Given the description of an element on the screen output the (x, y) to click on. 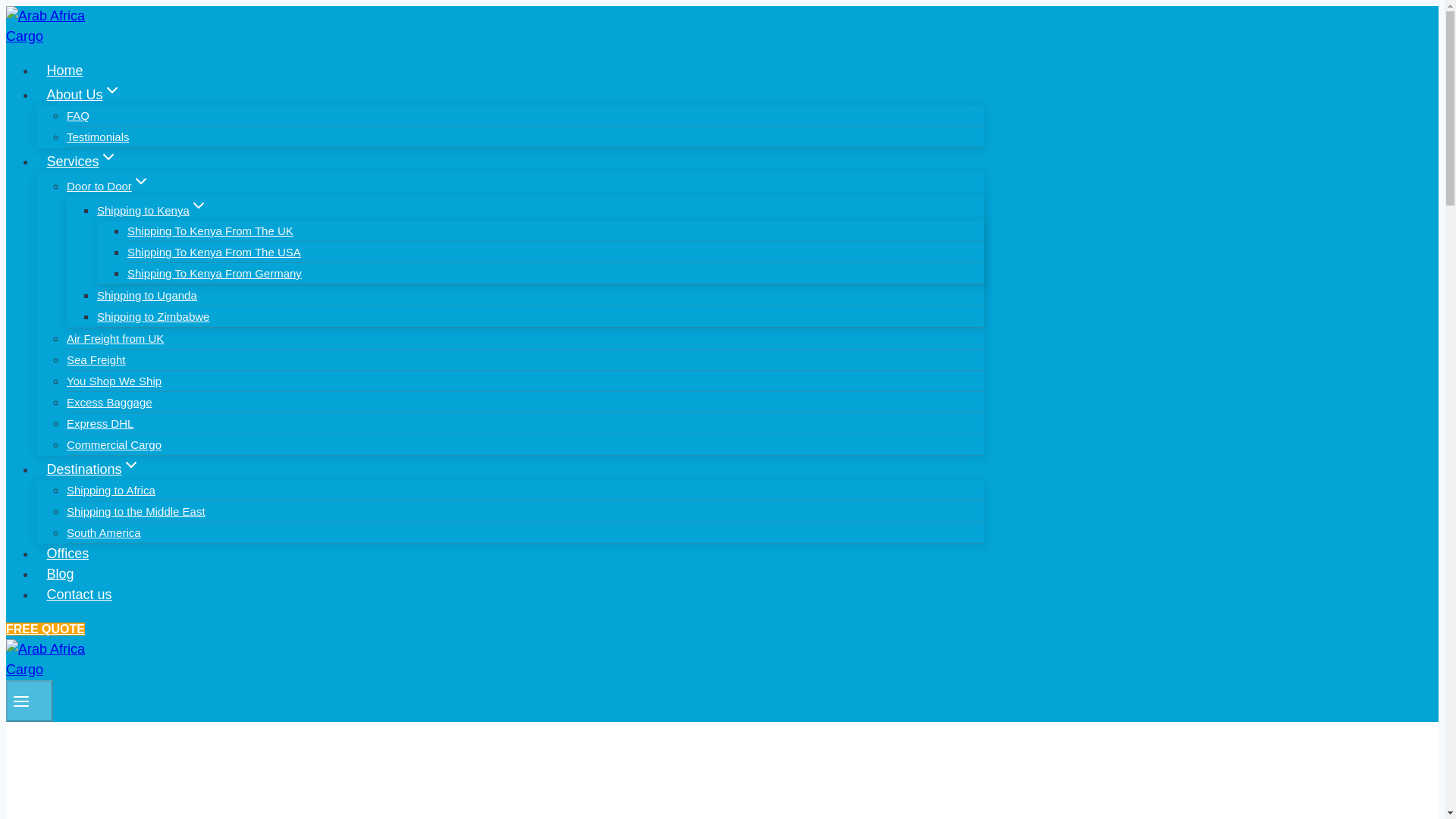
Offices (67, 553)
Toggle Menu (28, 700)
DestinationsExpand (92, 468)
Commercial Cargo (113, 444)
Testimonials (97, 136)
About UsExpand (83, 94)
Toggle Menu (20, 701)
Shipping to Africa (110, 489)
Expand (198, 205)
South America (103, 532)
Express DHL (99, 423)
Shipping To Kenya From The USA (214, 252)
FAQ (77, 115)
Excess Baggage (109, 402)
Sea Freight (95, 359)
